Given the description of an element on the screen output the (x, y) to click on. 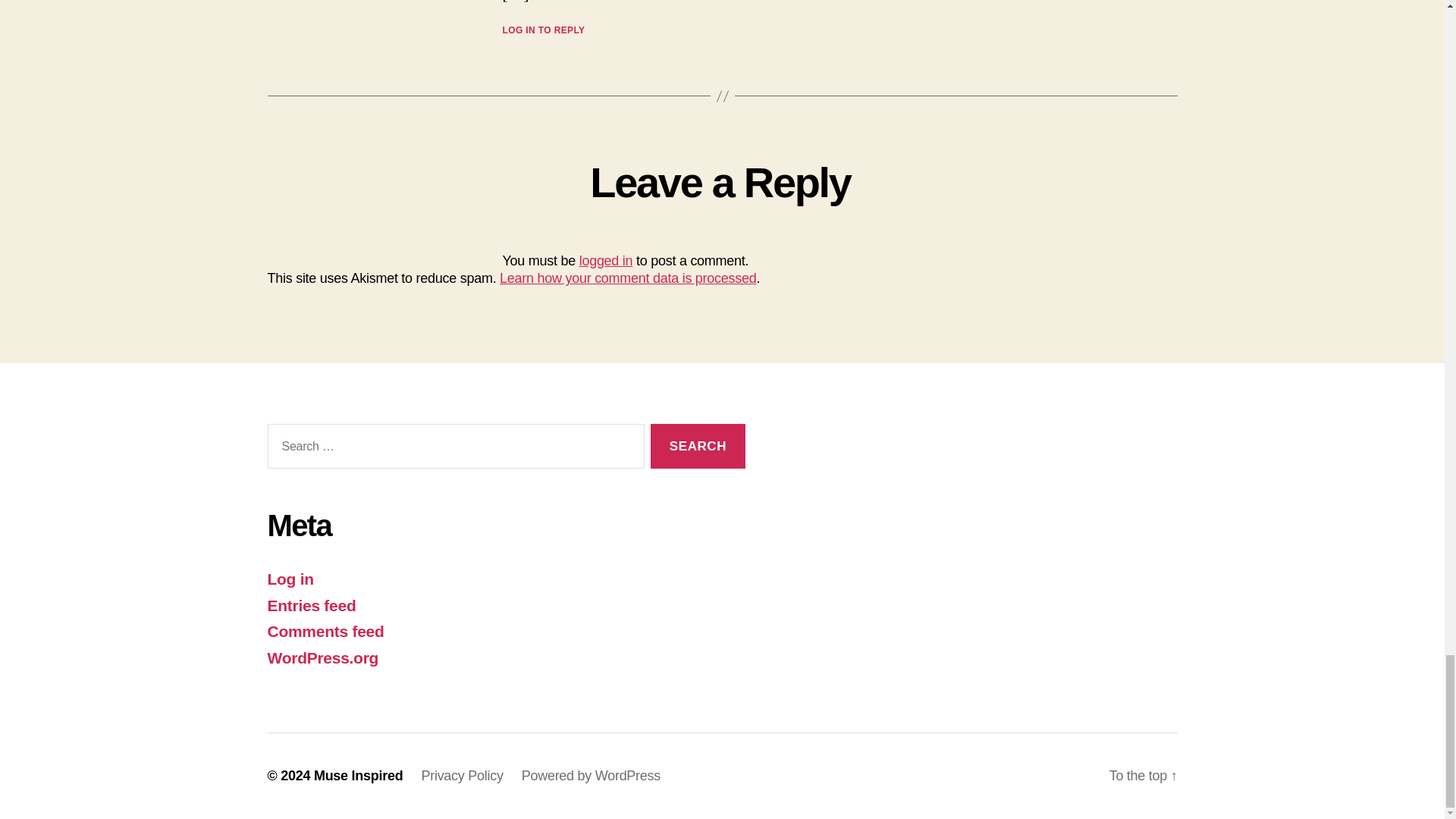
Search (697, 446)
Search (697, 446)
